Given the description of an element on the screen output the (x, y) to click on. 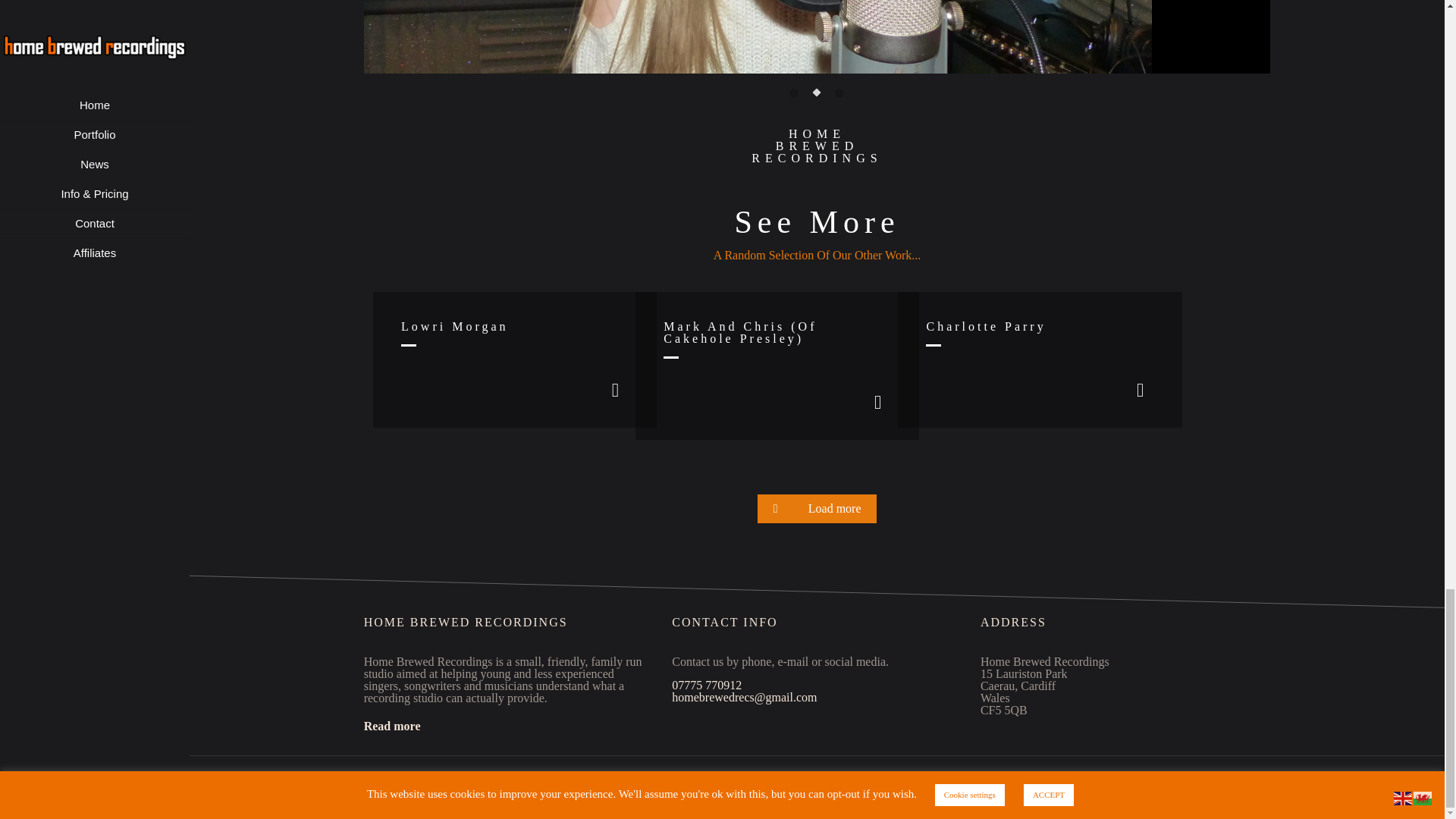
Twitter (1194, 784)
Instagram (1215, 784)
Facebook (1174, 784)
